Given the description of an element on the screen output the (x, y) to click on. 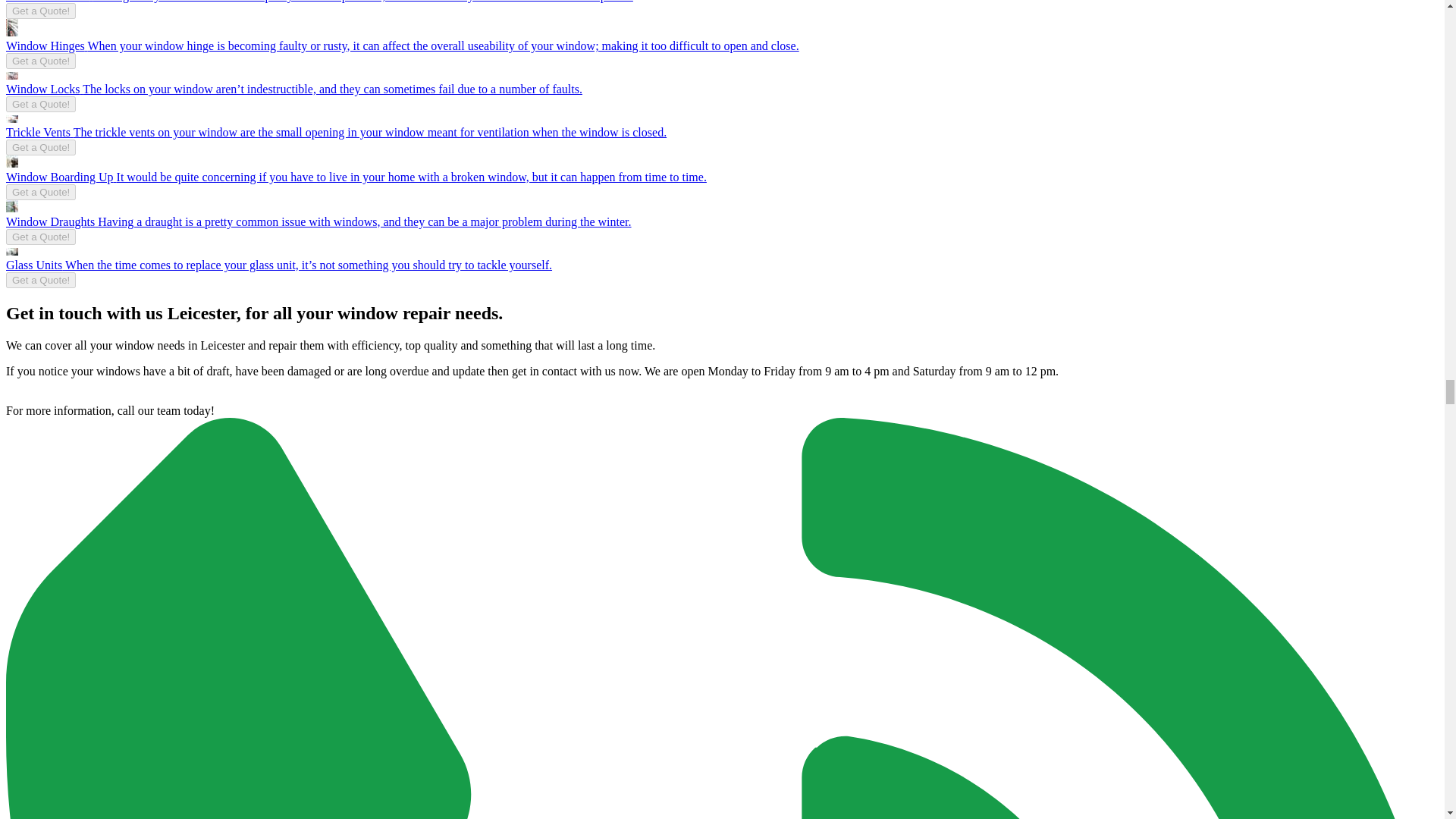
Get a Quote! (40, 236)
Get a Quote! (40, 279)
Get a Quote! (40, 60)
Get a Quote! (40, 147)
Get a Quote! (40, 104)
Get a Quote! (40, 10)
Get a Quote! (40, 191)
